Given the description of an element on the screen output the (x, y) to click on. 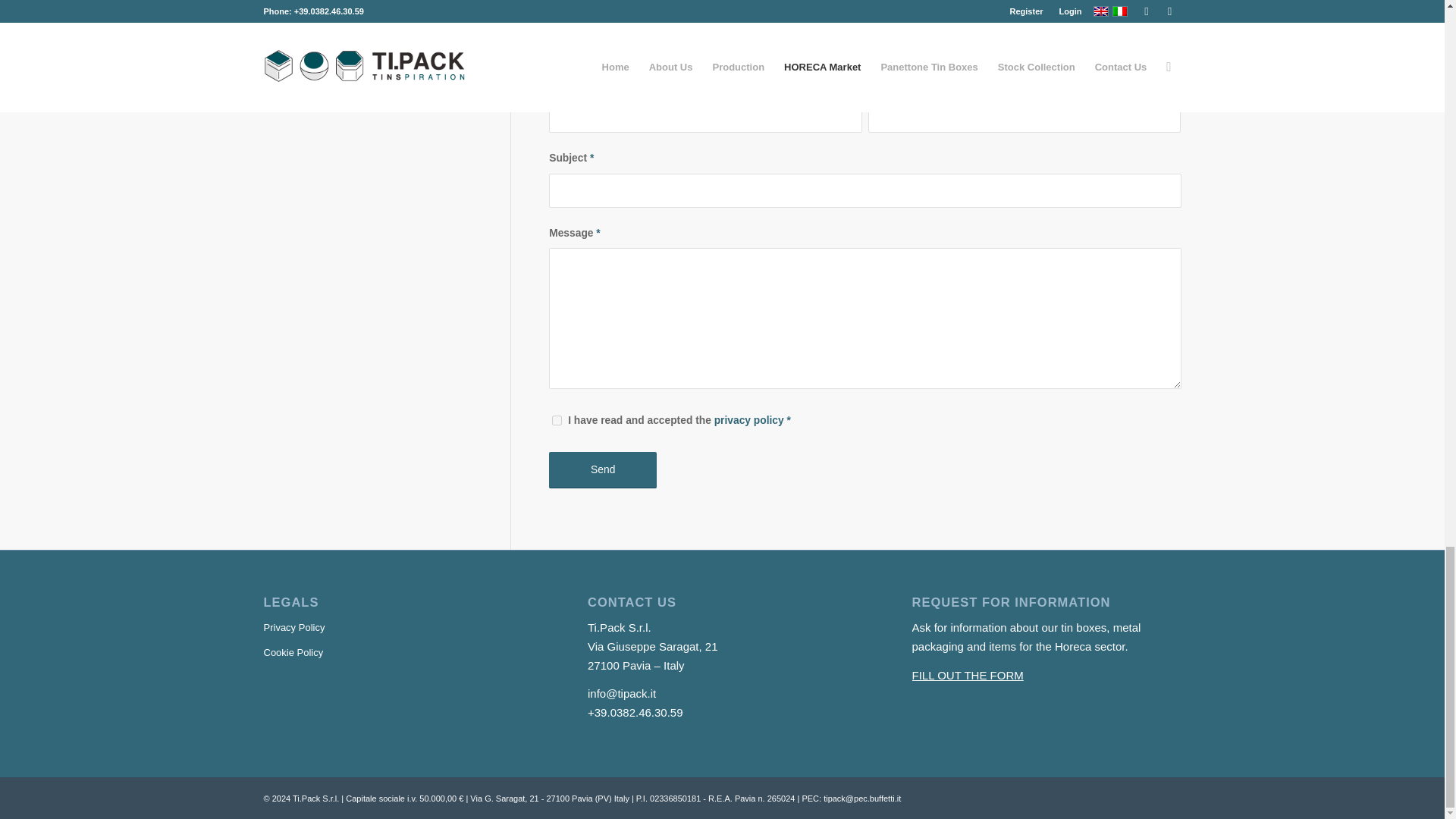
true (556, 420)
Send (602, 470)
